Given the description of an element on the screen output the (x, y) to click on. 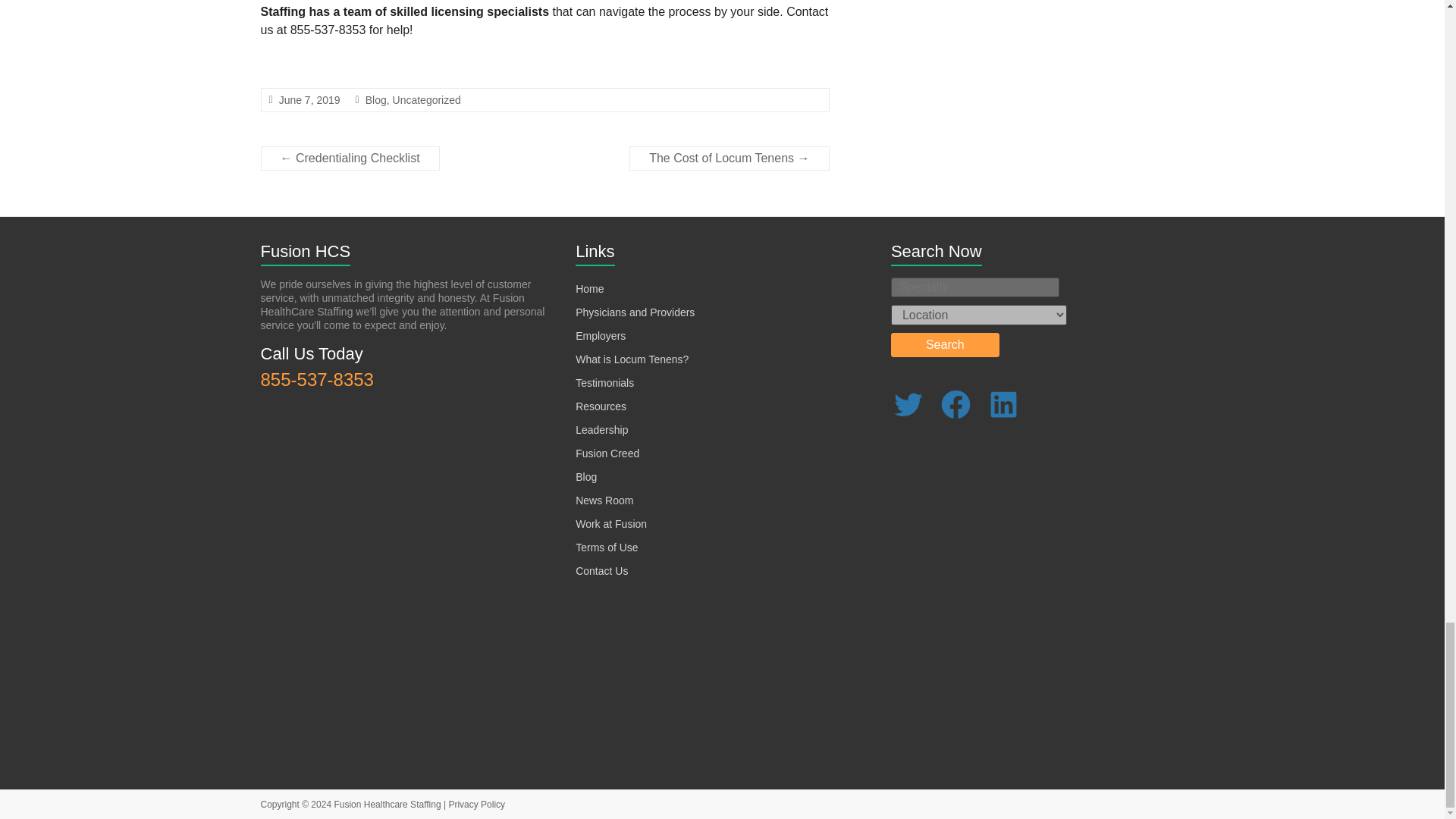
Resources (600, 406)
Work at Fusion (610, 523)
Home (589, 288)
News Room (604, 500)
Call Us (317, 379)
8:51 pm (309, 100)
855-537-8353 (317, 379)
Fusion Healthcare Staffing (387, 804)
Leadership (601, 429)
Uncategorized (427, 100)
June 7, 2019 (309, 100)
Terms of Use (606, 547)
Blog (585, 476)
Fusion Creed (607, 453)
Search (944, 344)
